Given the description of an element on the screen output the (x, y) to click on. 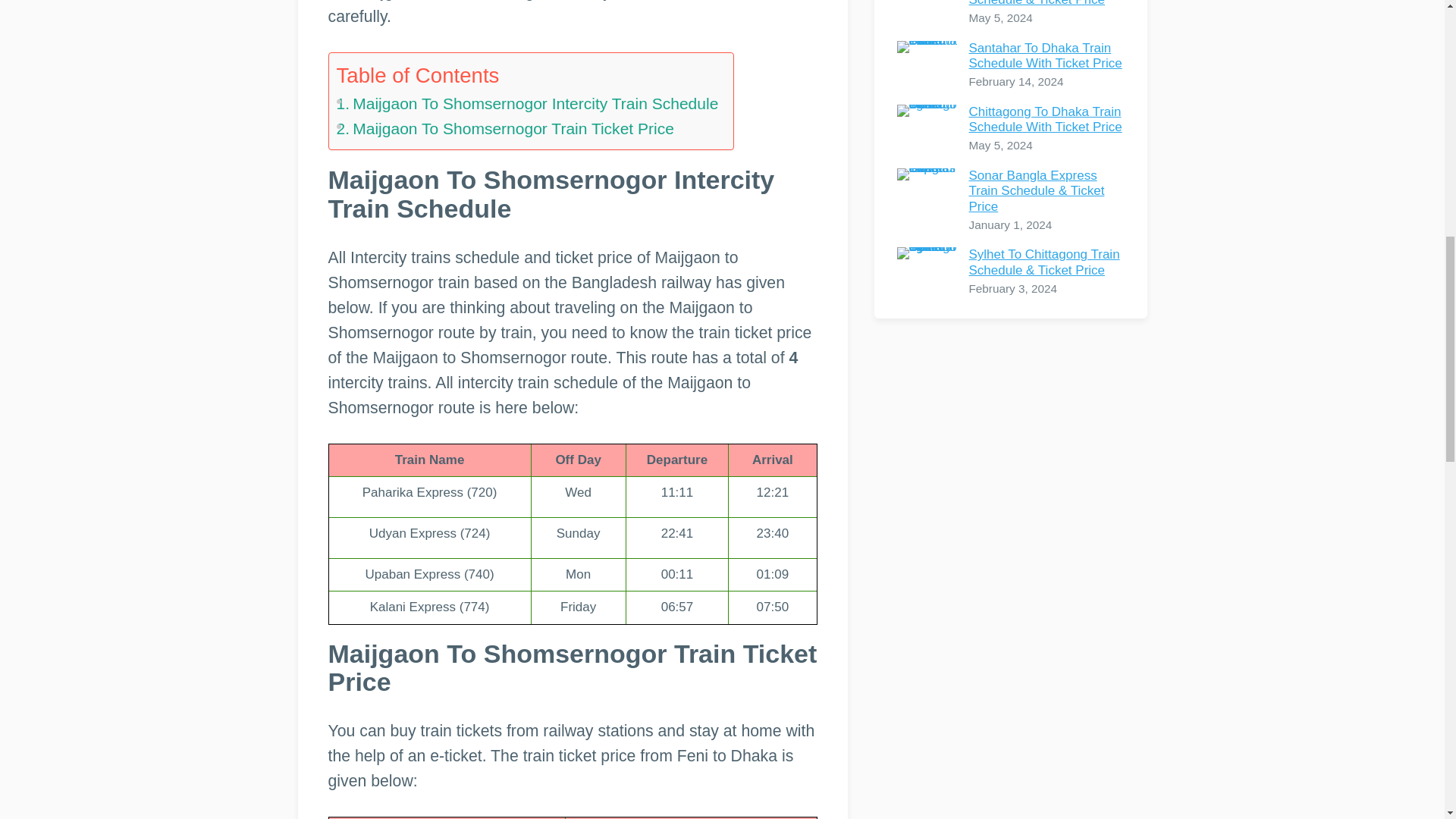
Maijgaon To Shomsernogor Intercity Train Schedule (527, 103)
Maijgaon To Shomsernogor Intercity Train Schedule (527, 103)
Maijgaon To Shomsernogor Train Ticket Price (505, 128)
Maijgaon To Shomsernogor Train Ticket Price (505, 128)
